Given the description of an element on the screen output the (x, y) to click on. 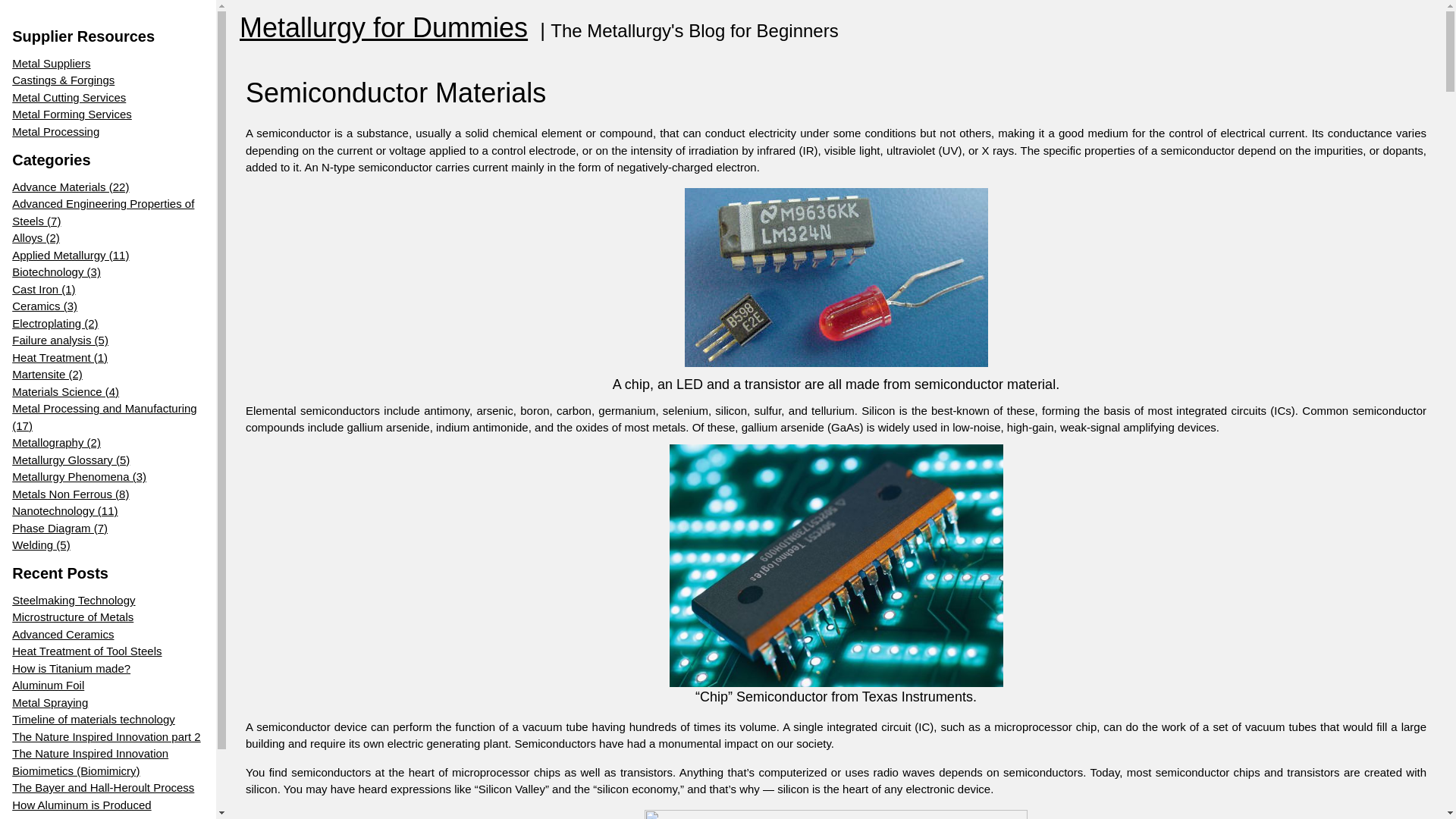
Metal Processing (83, 131)
Metal Suppliers (24, 63)
The Nature Inspired Innovation part 2 (107, 737)
Metal Spraying (107, 702)
Heat Treatment of Tool Steels (107, 651)
View all posts filed under Advance Materials (107, 187)
Aluminum Foil (107, 685)
View all posts filed under Nanotechnology (107, 511)
View all posts filed under Metallurgy Phenomena (107, 477)
How Aluminum is Produced (107, 805)
View all posts filed under Materials Science (107, 392)
The Bayer and Hall-Heroult Process (107, 787)
View all posts filed under Biotechnology (107, 272)
View all posts filed under Applied Metallurgy (107, 255)
